Given the description of an element on the screen output the (x, y) to click on. 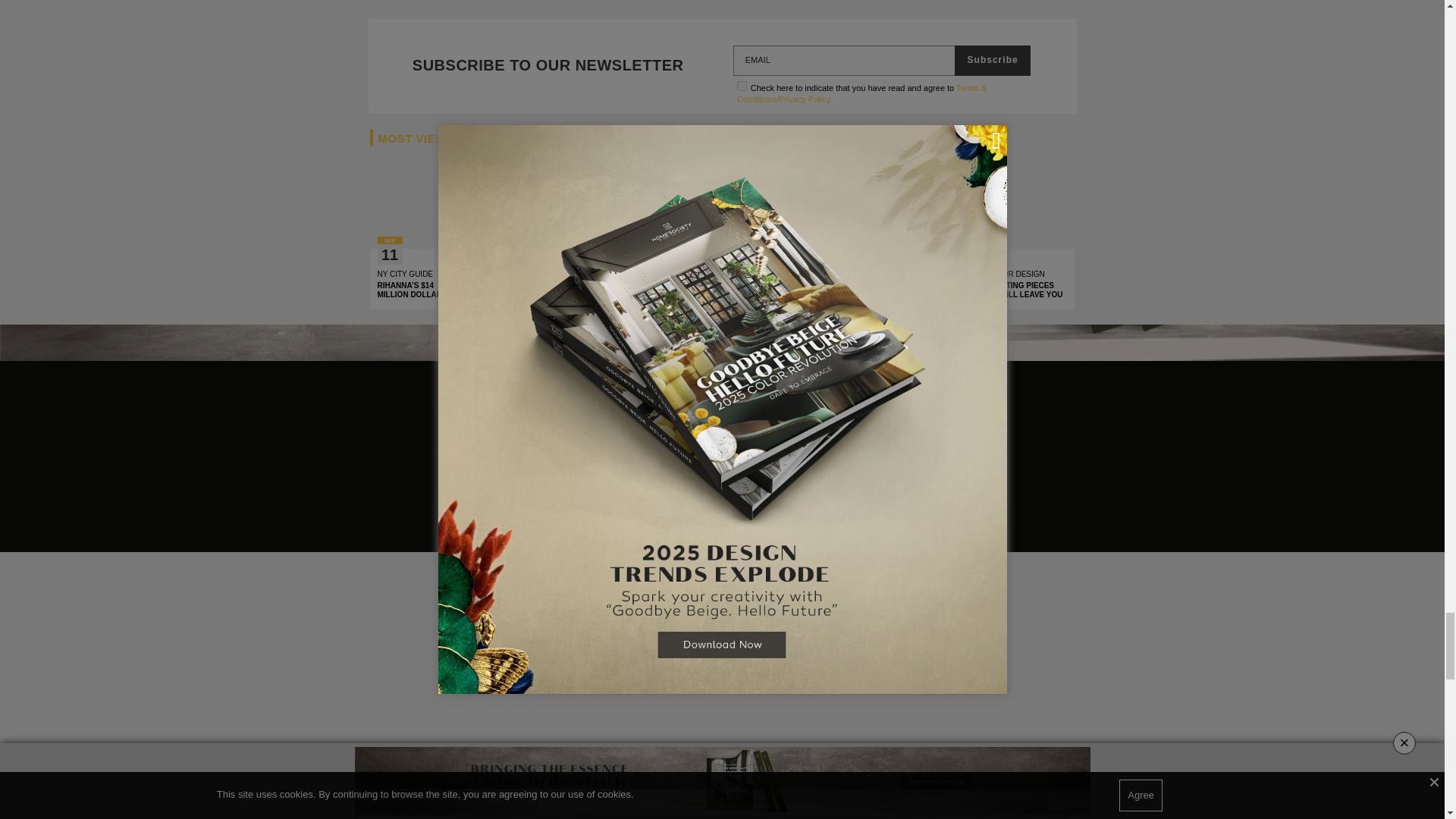
on (741, 85)
EMAIL (844, 60)
Subscribe (992, 60)
